Given the description of an element on the screen output the (x, y) to click on. 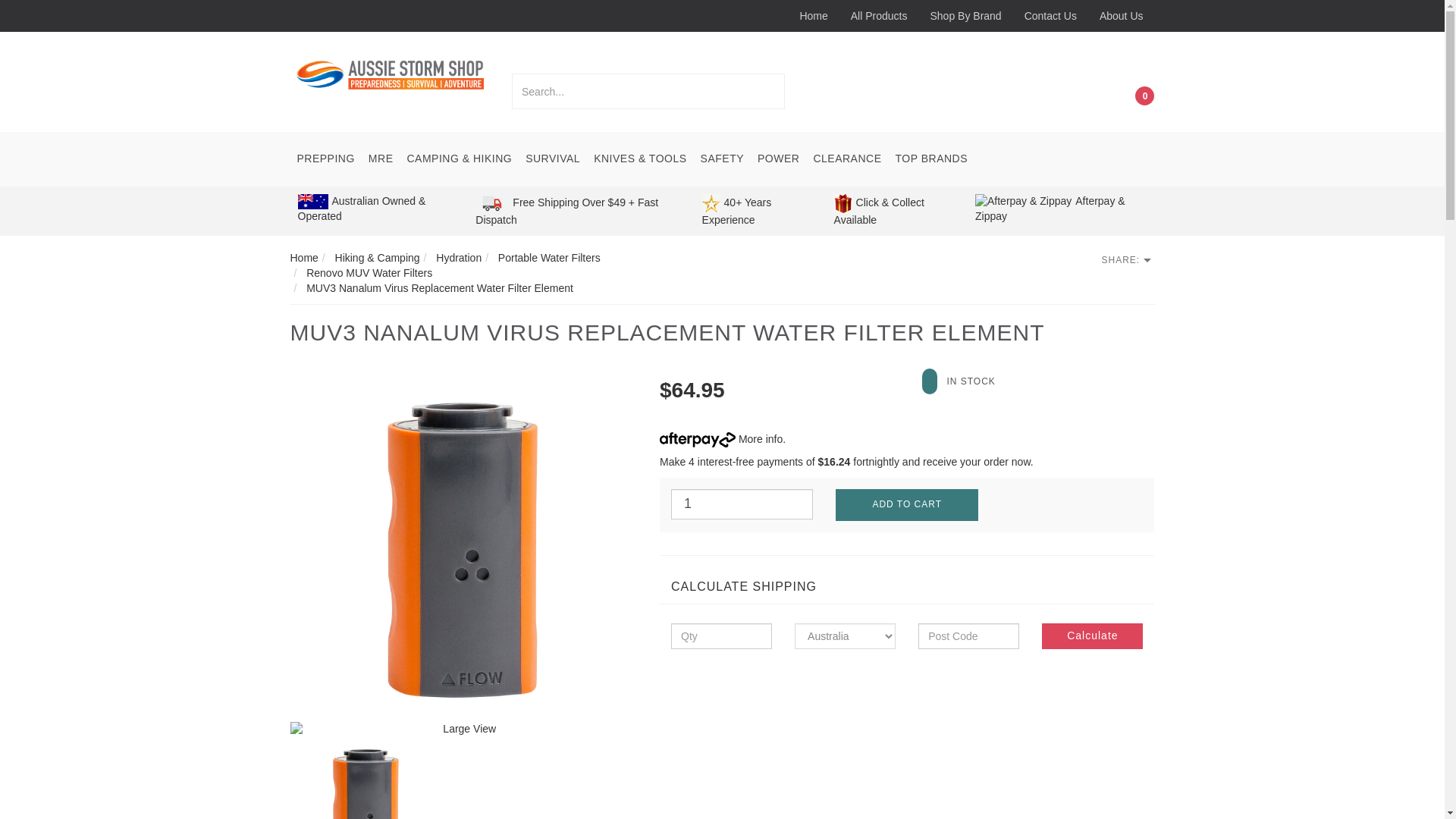
Add to Cart (905, 504)
Aussie Storm Shop (389, 73)
Large View (463, 548)
Large View (463, 729)
1 (741, 503)
Calculate (1092, 636)
